Given the description of an element on the screen output the (x, y) to click on. 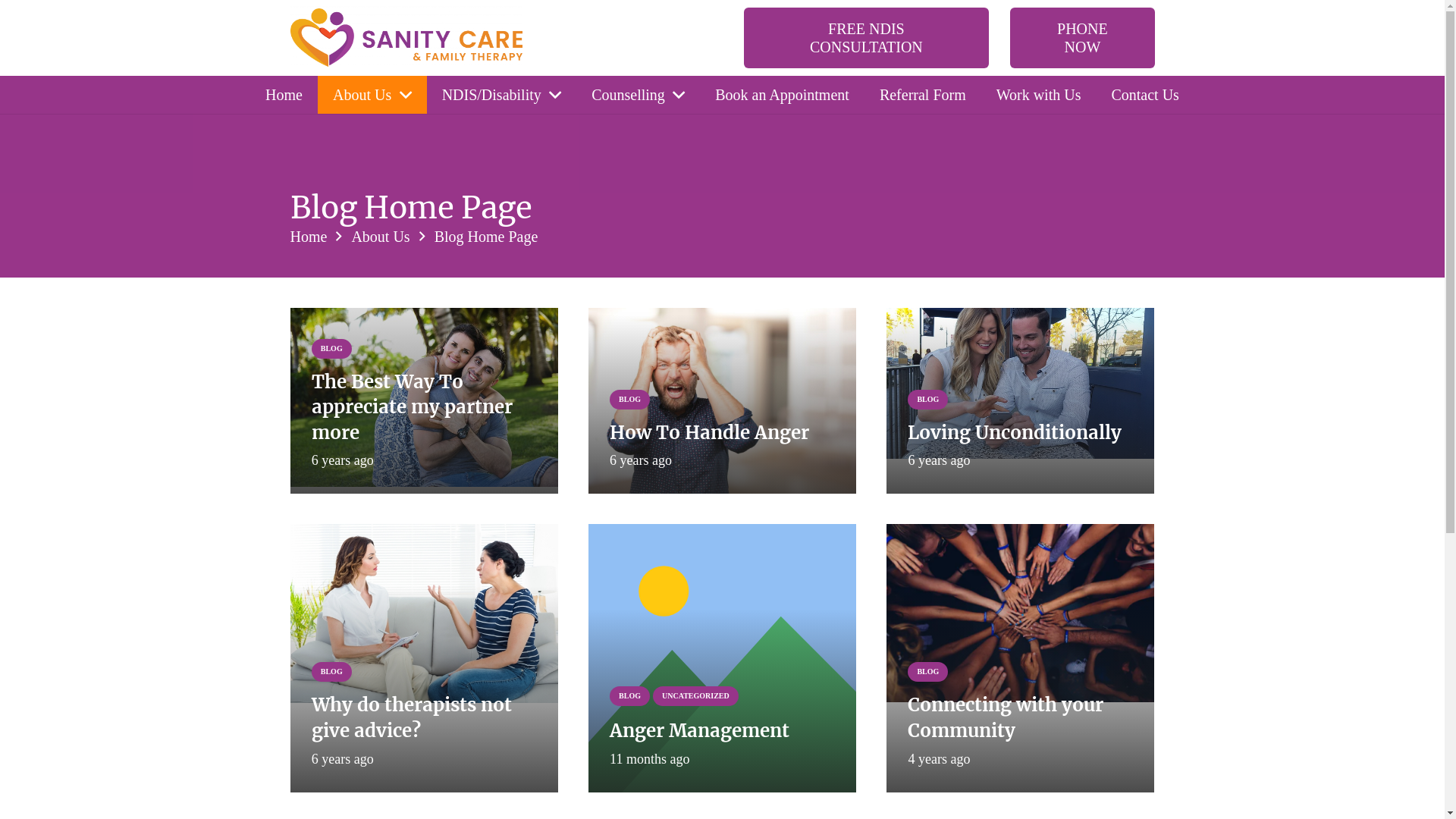
Counselling Element type: text (637, 94)
PHONE NOW Element type: text (1082, 37)
Loving Unconditionally Element type: text (1014, 432)
About Us Element type: text (371, 94)
Referral Form Element type: text (922, 94)
About Us Element type: text (380, 236)
Contact Us Element type: text (1144, 94)
Book an Appointment Element type: text (781, 94)
BLOG Element type: text (927, 671)
Blog Home Page Element type: text (486, 236)
Why do therapists not give advice? Element type: text (411, 717)
Anger Management Element type: text (699, 730)
BLOG Element type: text (331, 348)
NDIS/Disability Element type: text (501, 94)
Home Element type: text (283, 94)
FREE NDIS CONSULTATION Element type: text (865, 37)
UNCATEGORIZED Element type: text (695, 696)
Work with Us Element type: text (1038, 94)
Connecting with your Community Element type: text (1005, 717)
BLOG Element type: text (629, 696)
BLOG Element type: text (927, 399)
BLOG Element type: text (629, 399)
Home Element type: text (307, 236)
BLOG Element type: text (331, 671)
The Best Way To appreciate my partner more Element type: text (411, 407)
How To Handle Anger Element type: text (709, 432)
